Given the description of an element on the screen output the (x, y) to click on. 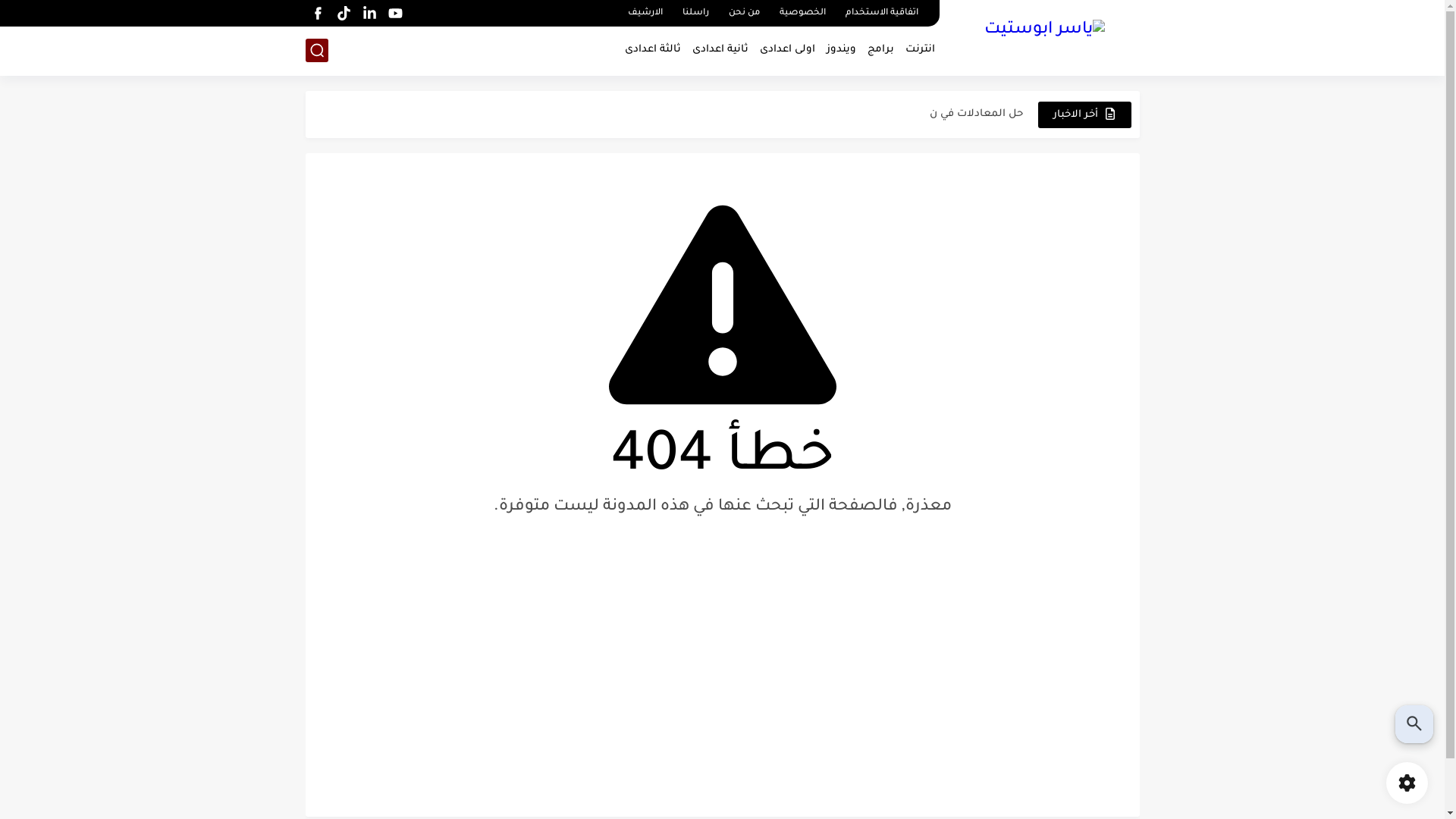
tiktok Element type: hover (344, 13)
facebook Element type: hover (318, 13)
youtube Element type: hover (395, 13)
linkedin Element type: hover (369, 13)
